Given the description of an element on the screen output the (x, y) to click on. 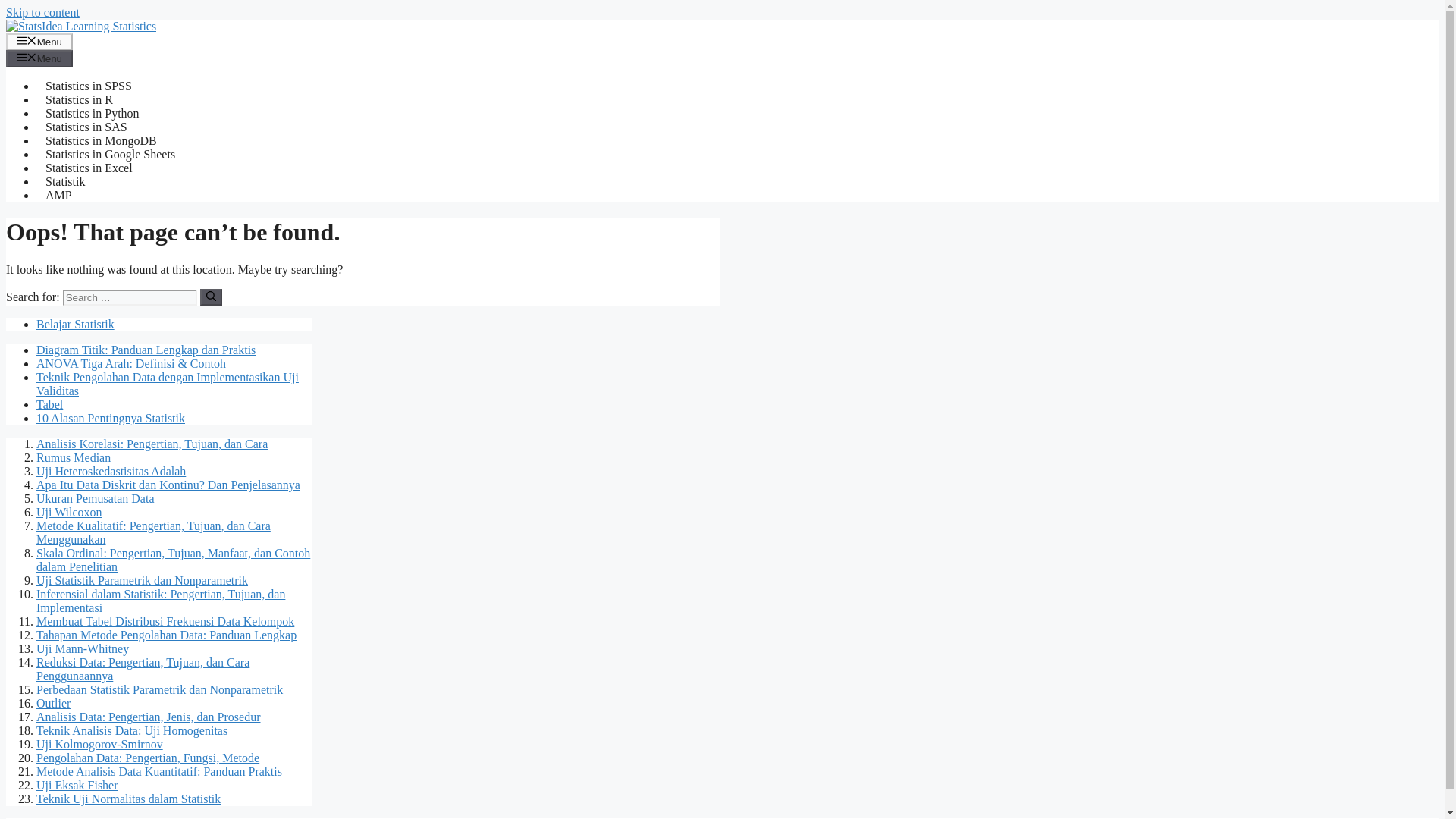
Metode Kualitatif: Pengertian, Tujuan, dan Cara Menggunakan (153, 532)
Statistics in Excel (88, 167)
Membuat Tabel Distribusi Frekuensi Data Kelompok (165, 621)
Reduksi Data: Pengertian, Tujuan, dan Cara Penggunaannya (142, 669)
Statistics in SAS (86, 126)
Statistics in R (79, 99)
Statistics in MongoDB (100, 140)
Uji Mann-Whitney (82, 648)
Diagram Titik: Panduan Lengkap dan Praktis (146, 349)
